Given the description of an element on the screen output the (x, y) to click on. 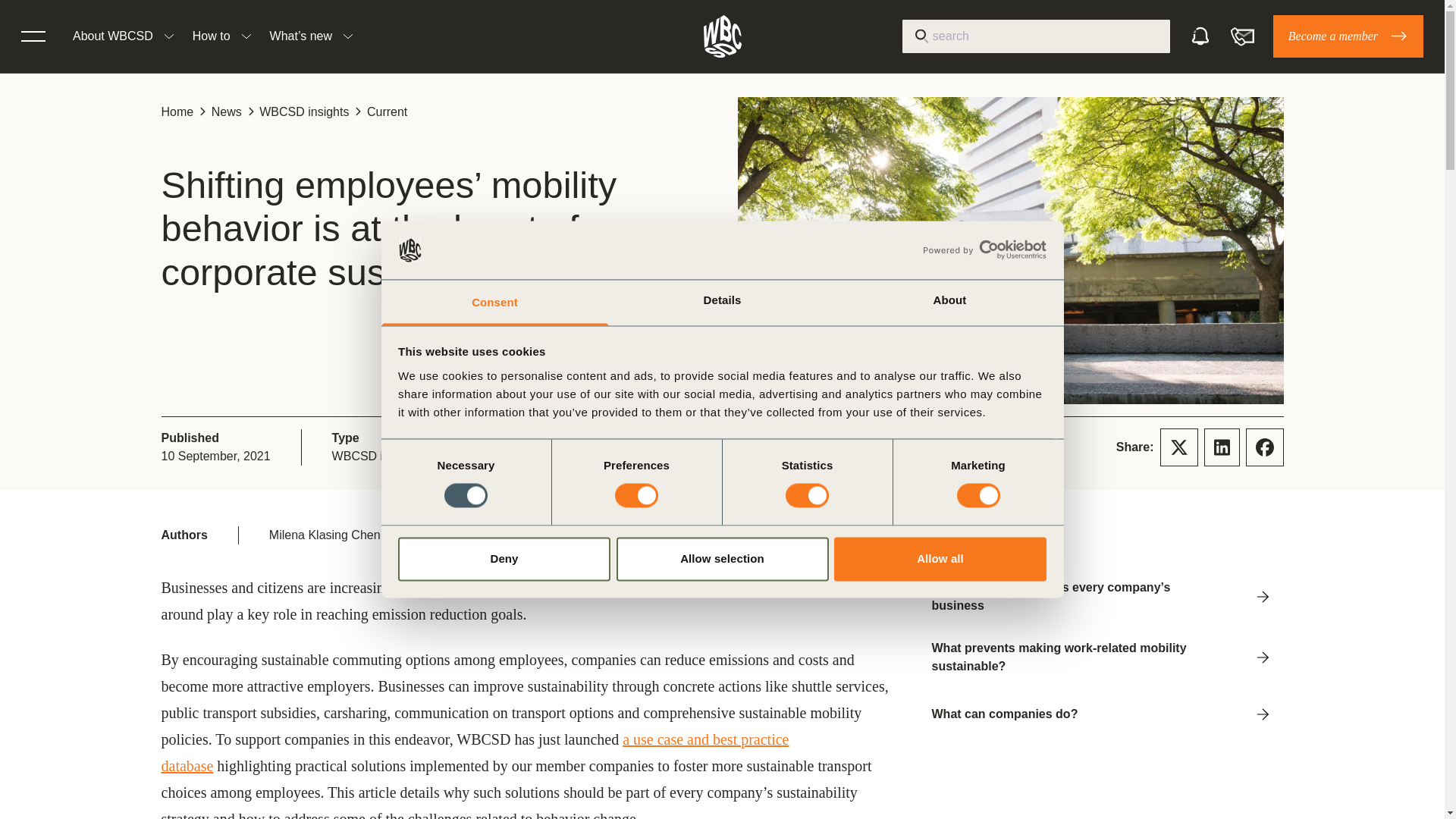
About (948, 302)
Deny (503, 558)
Details (721, 302)
Consent (494, 302)
